Given the description of an element on the screen output the (x, y) to click on. 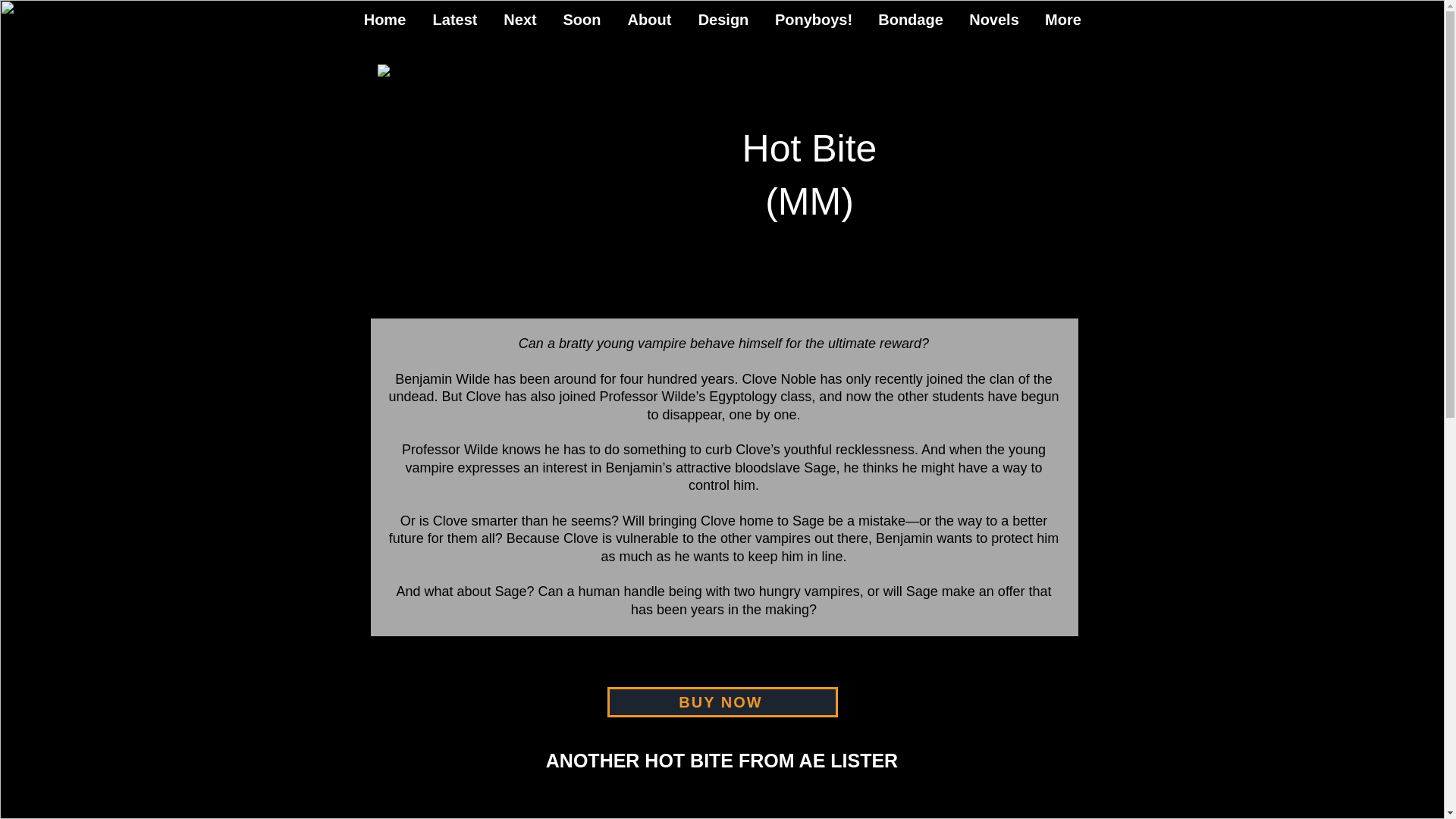
Latest (454, 19)
Next (518, 19)
Soon (580, 19)
Design (722, 19)
About (649, 19)
Home (384, 19)
Bondage (909, 19)
BUY NOW (722, 702)
Ponyboys! (812, 19)
